Given the description of an element on the screen output the (x, y) to click on. 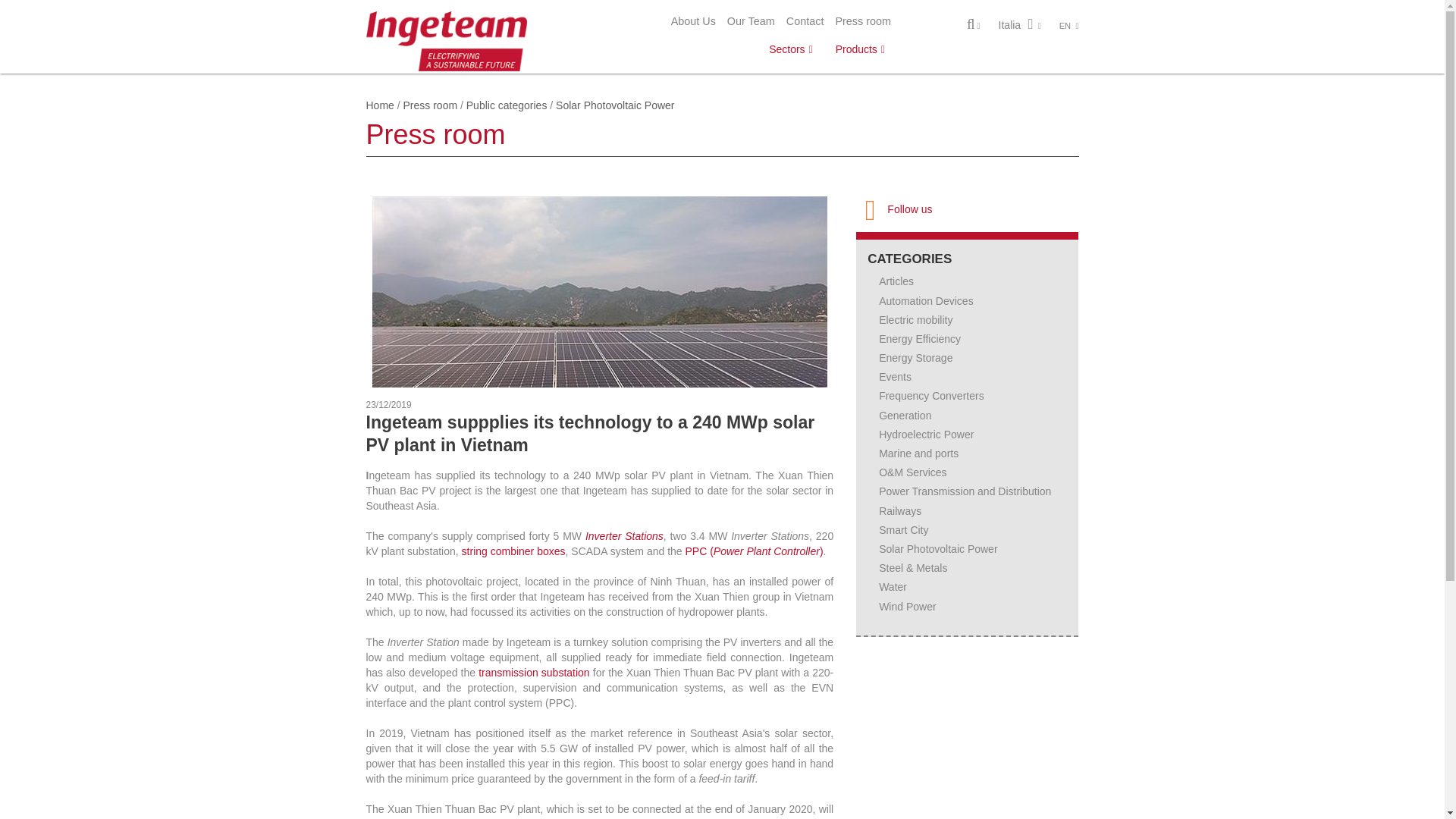
Our Team (750, 21)
Contact (805, 21)
About Us (692, 21)
Ingeteam (446, 39)
Press room (863, 21)
